Given the description of an element on the screen output the (x, y) to click on. 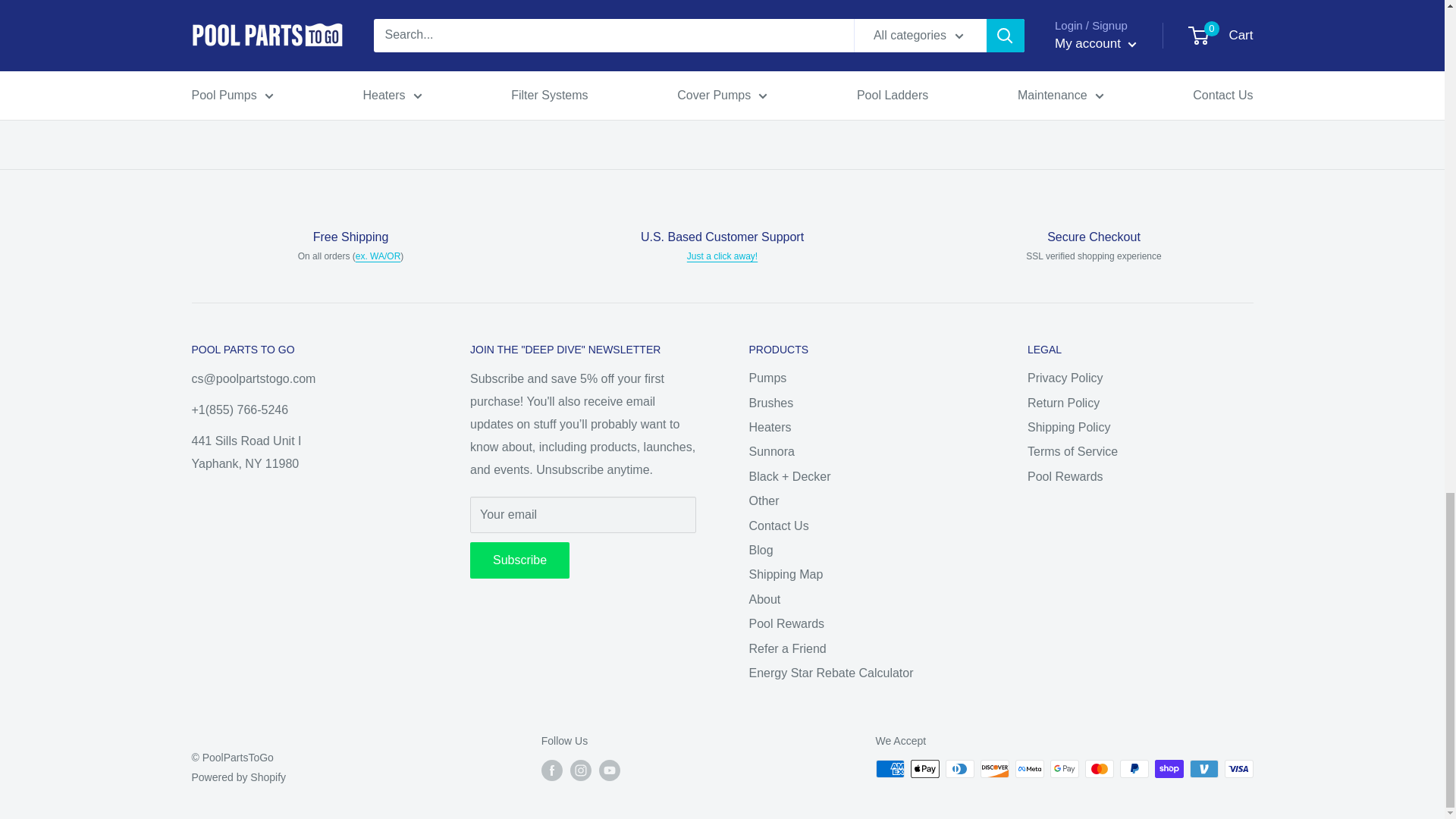
Shipping Policy (378, 255)
Contact Us (722, 255)
